Given the description of an element on the screen output the (x, y) to click on. 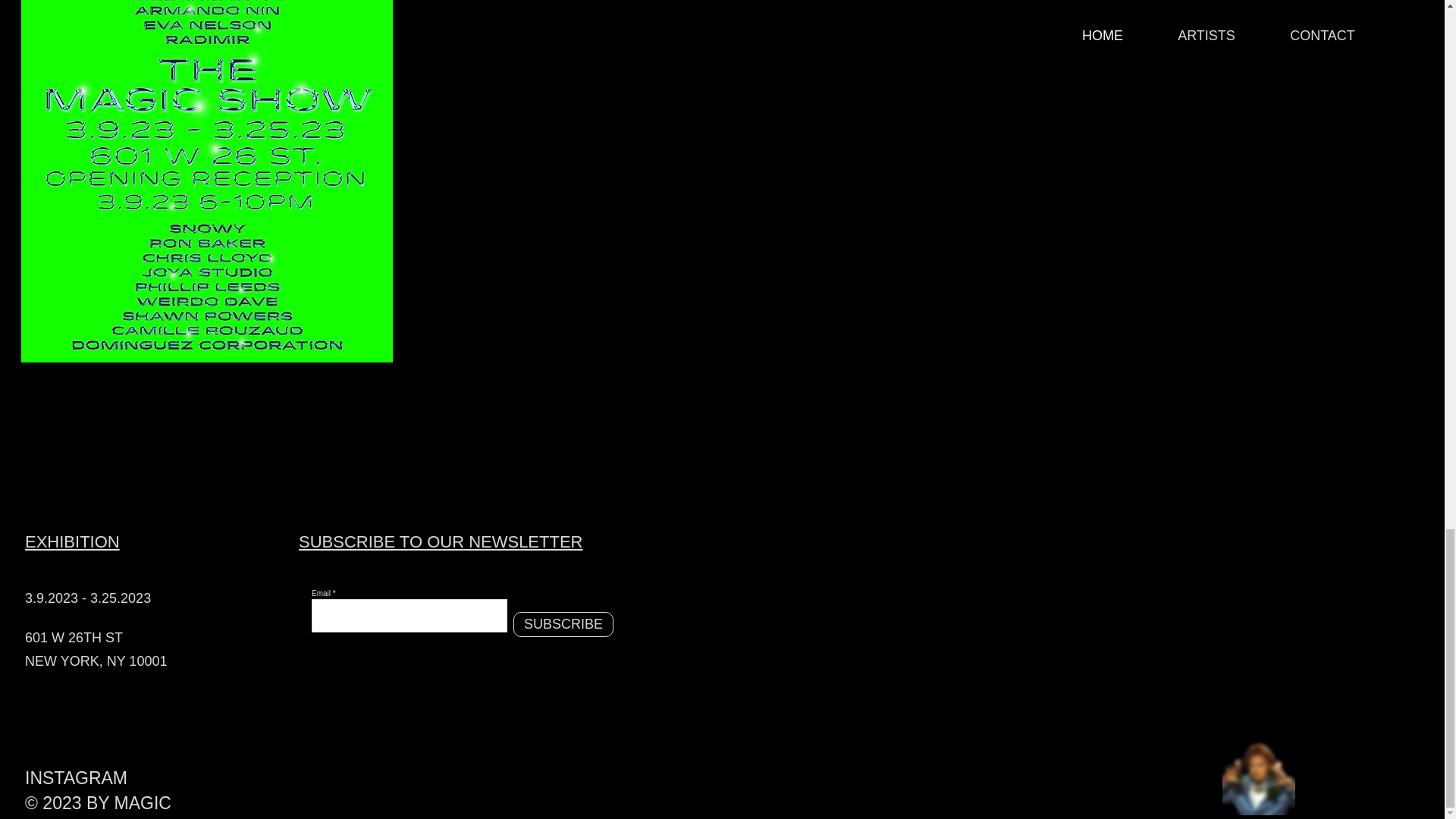
SUBSCRIBE (562, 624)
INSTAGRAM (89, 777)
